Given the description of an element on the screen output the (x, y) to click on. 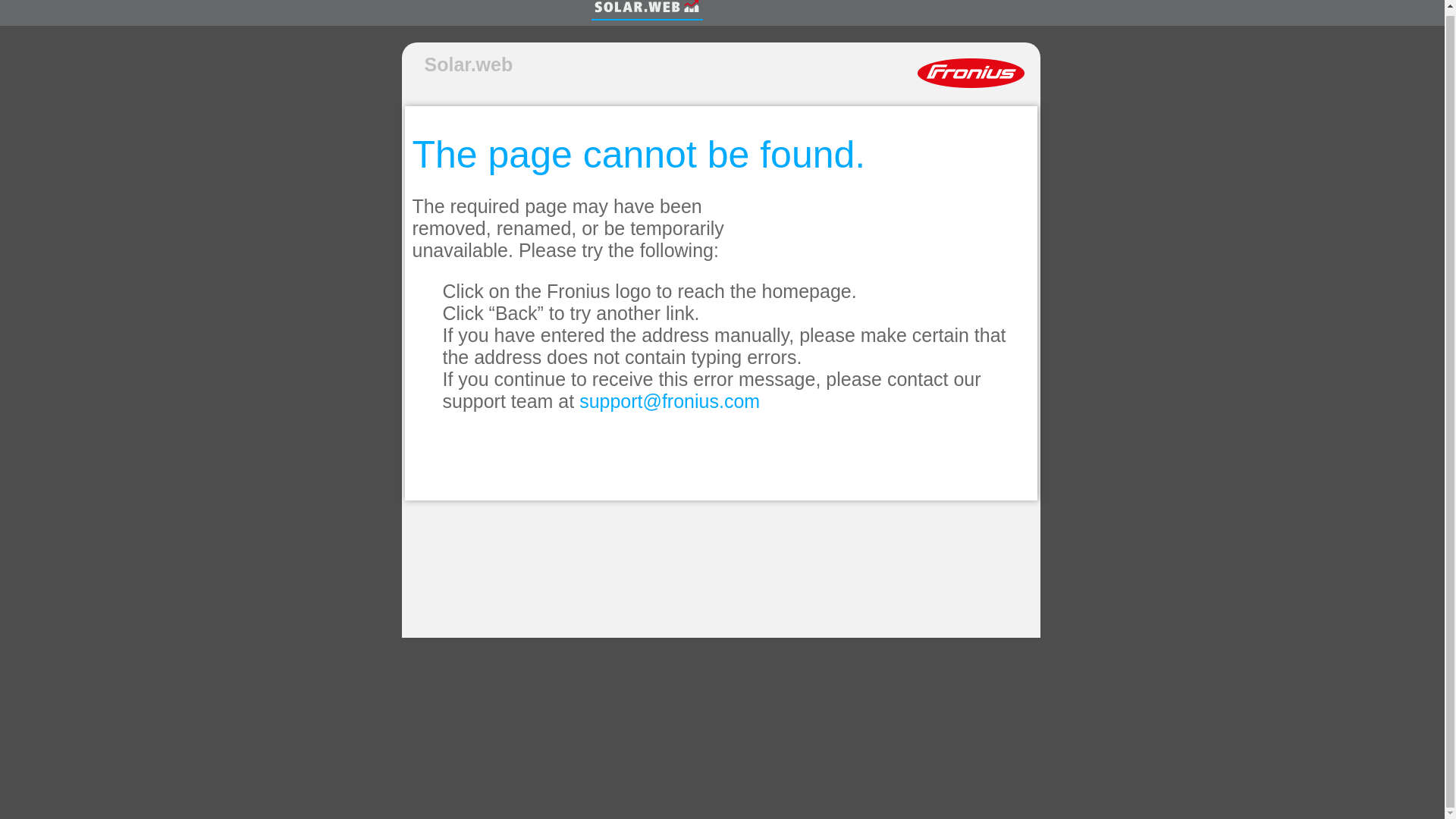
Solar.web (469, 65)
